Given the description of an element on the screen output the (x, y) to click on. 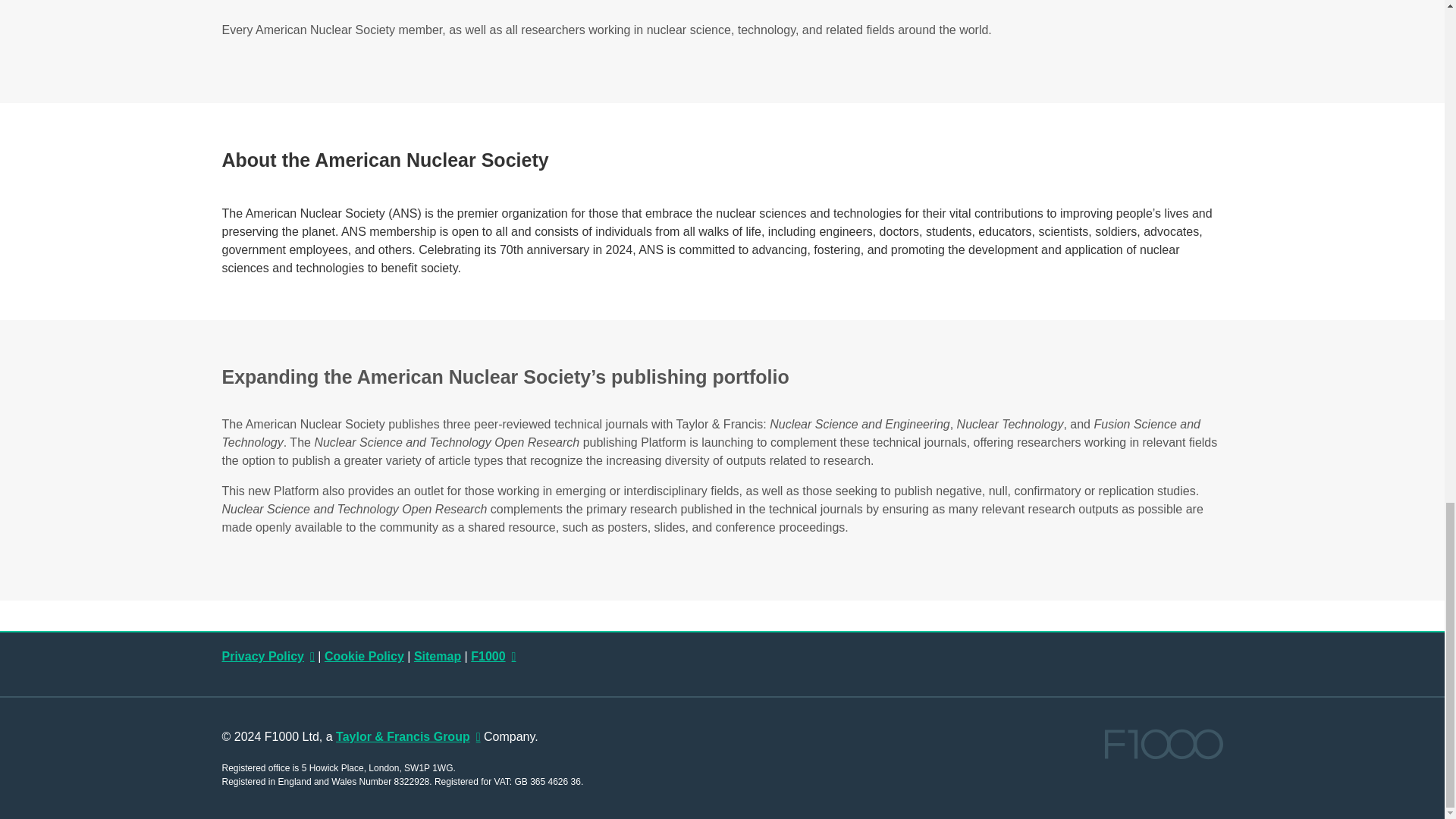
F1000 opens a new window (492, 656)
F1000 (492, 656)
Privacy Policy (267, 656)
Cookie Policy (364, 656)
Taylor and Francis Group Website opens a new window (408, 736)
Cookie Policy (364, 656)
Privacy Policy opens a new window (267, 656)
Sitemap (437, 656)
Sitemap (437, 656)
